Given the description of an element on the screen output the (x, y) to click on. 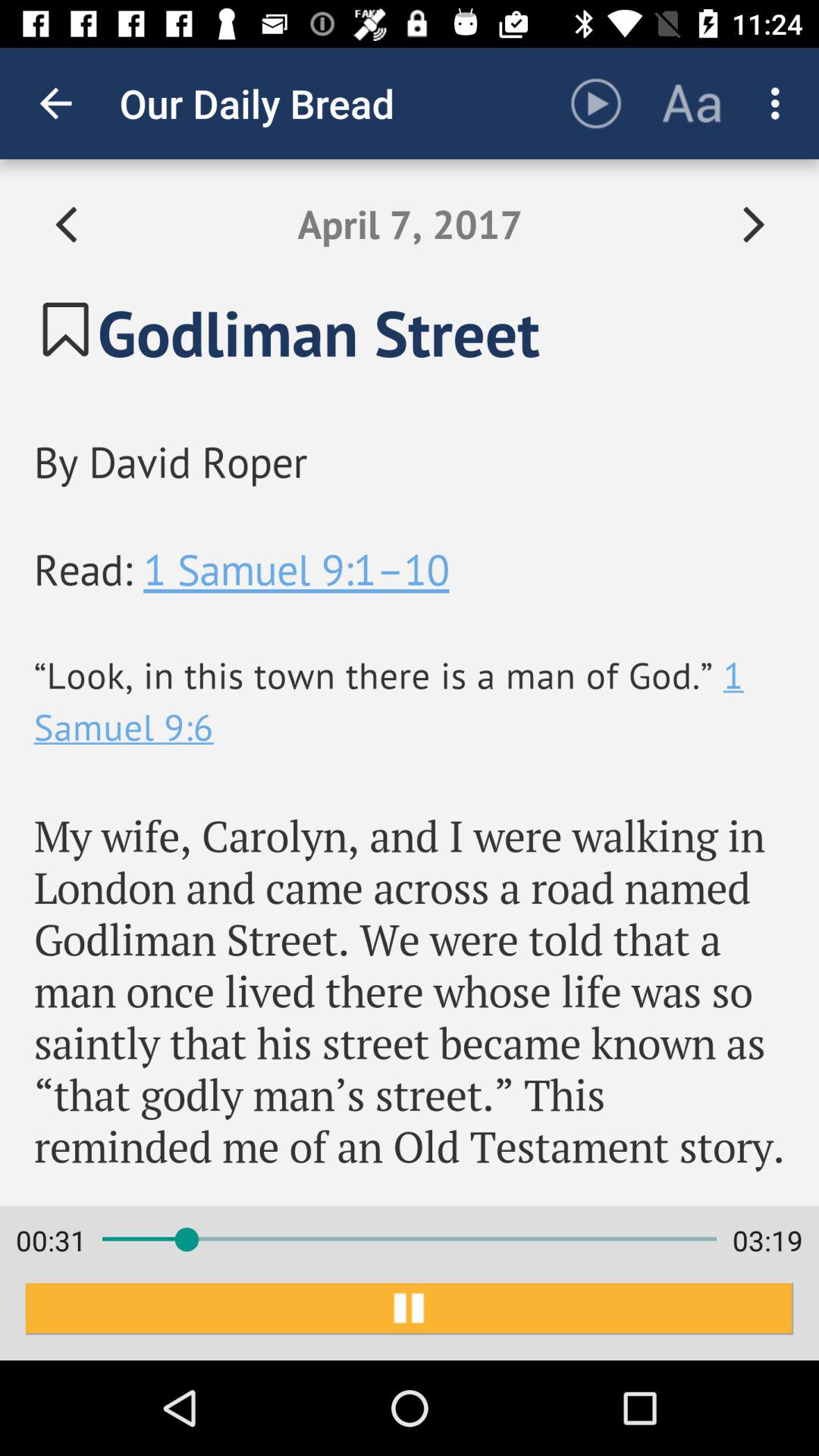
turn on the app next to the our daily bread (595, 103)
